Given the description of an element on the screen output the (x, y) to click on. 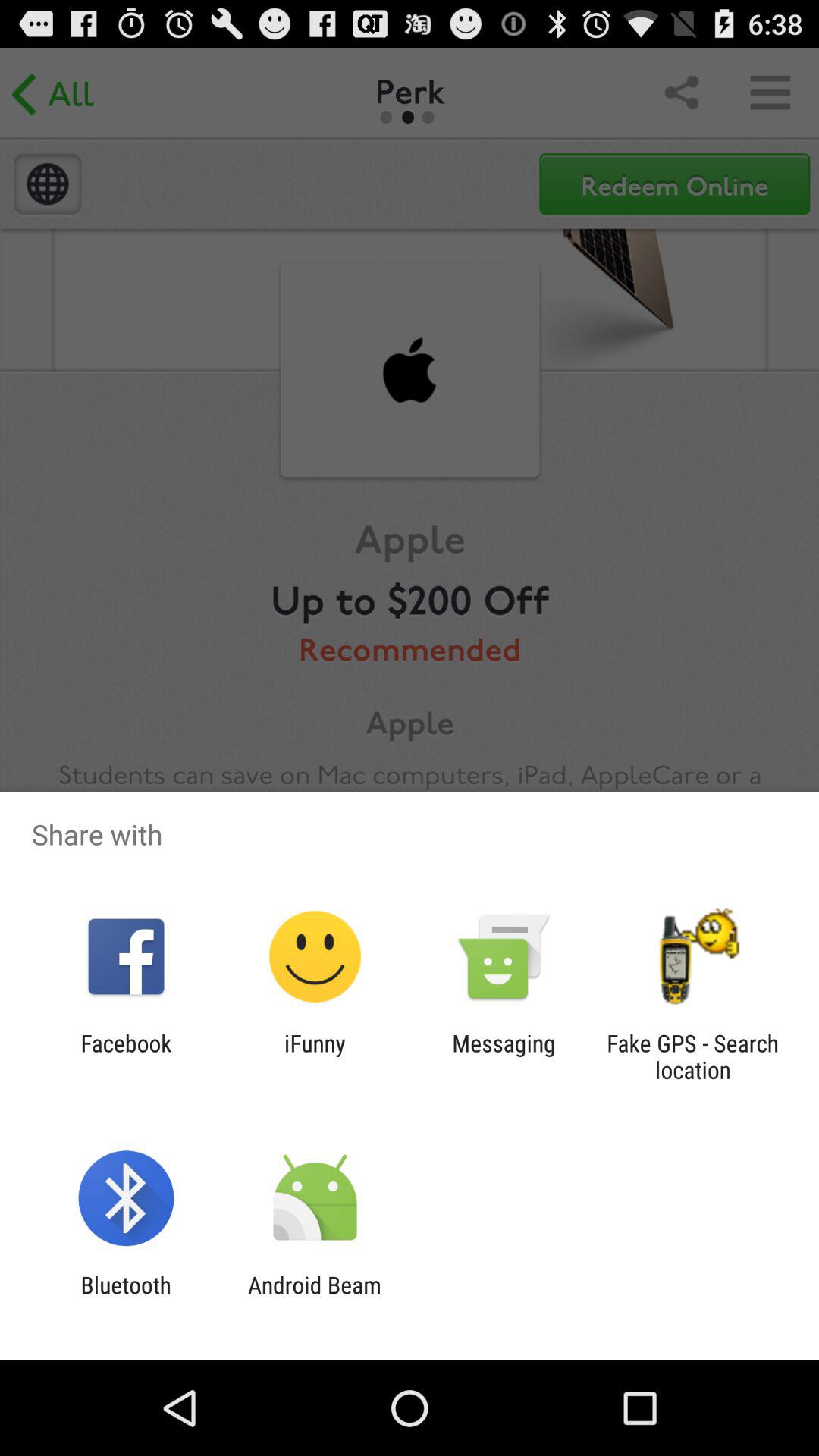
select the app to the left of the messaging app (314, 1056)
